Given the description of an element on the screen output the (x, y) to click on. 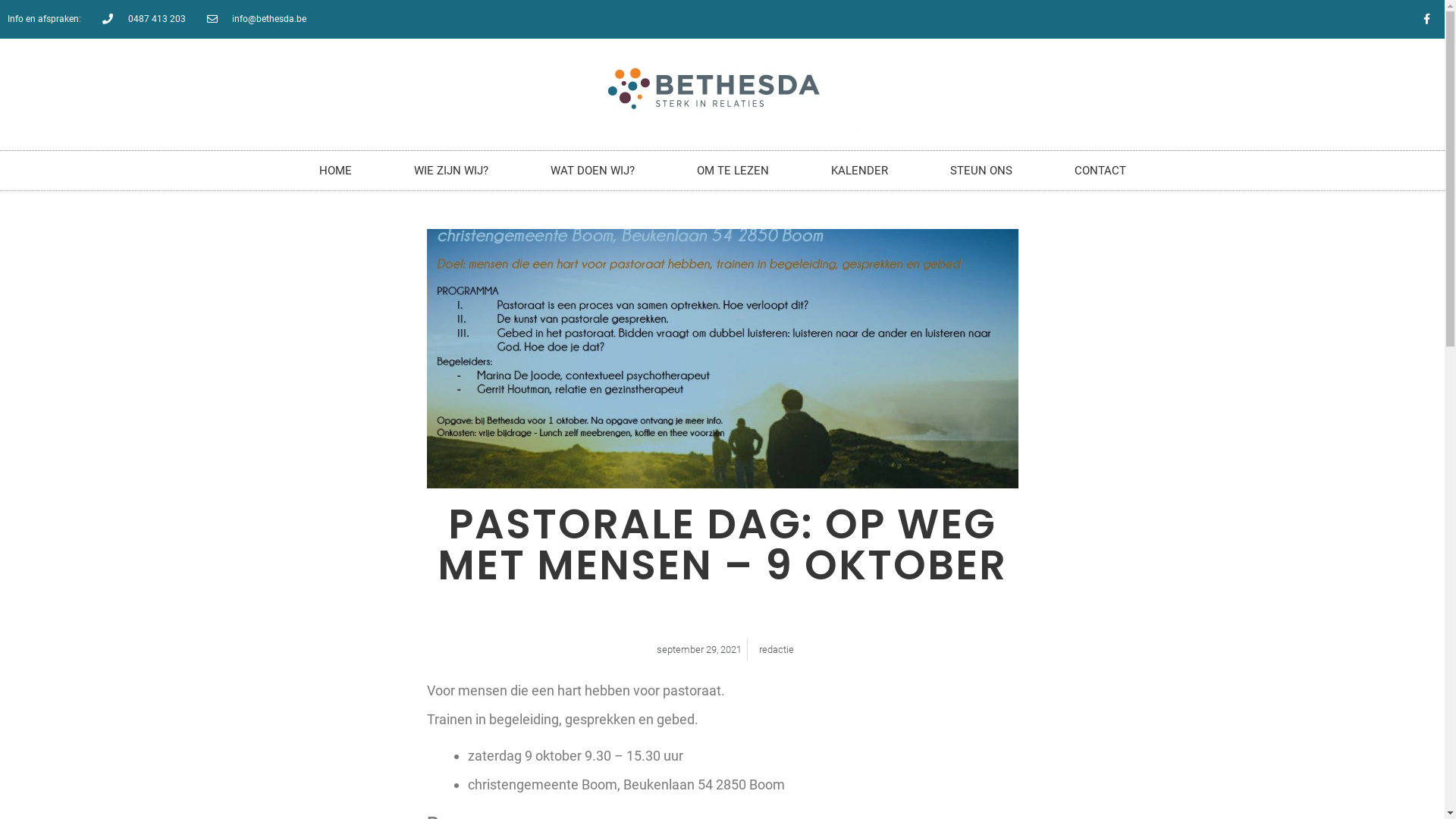
STEUN ONS Element type: text (981, 170)
WIE ZIJN WIJ? Element type: text (450, 170)
WAT DOEN WIJ? Element type: text (591, 170)
HOME Element type: text (335, 170)
KALENDER Element type: text (858, 170)
info@bethesda.be Element type: text (256, 19)
2021-pastoraledag Element type: hover (721, 358)
CONTACT Element type: text (1100, 170)
OM TE LEZEN Element type: text (732, 170)
